Given the description of an element on the screen output the (x, y) to click on. 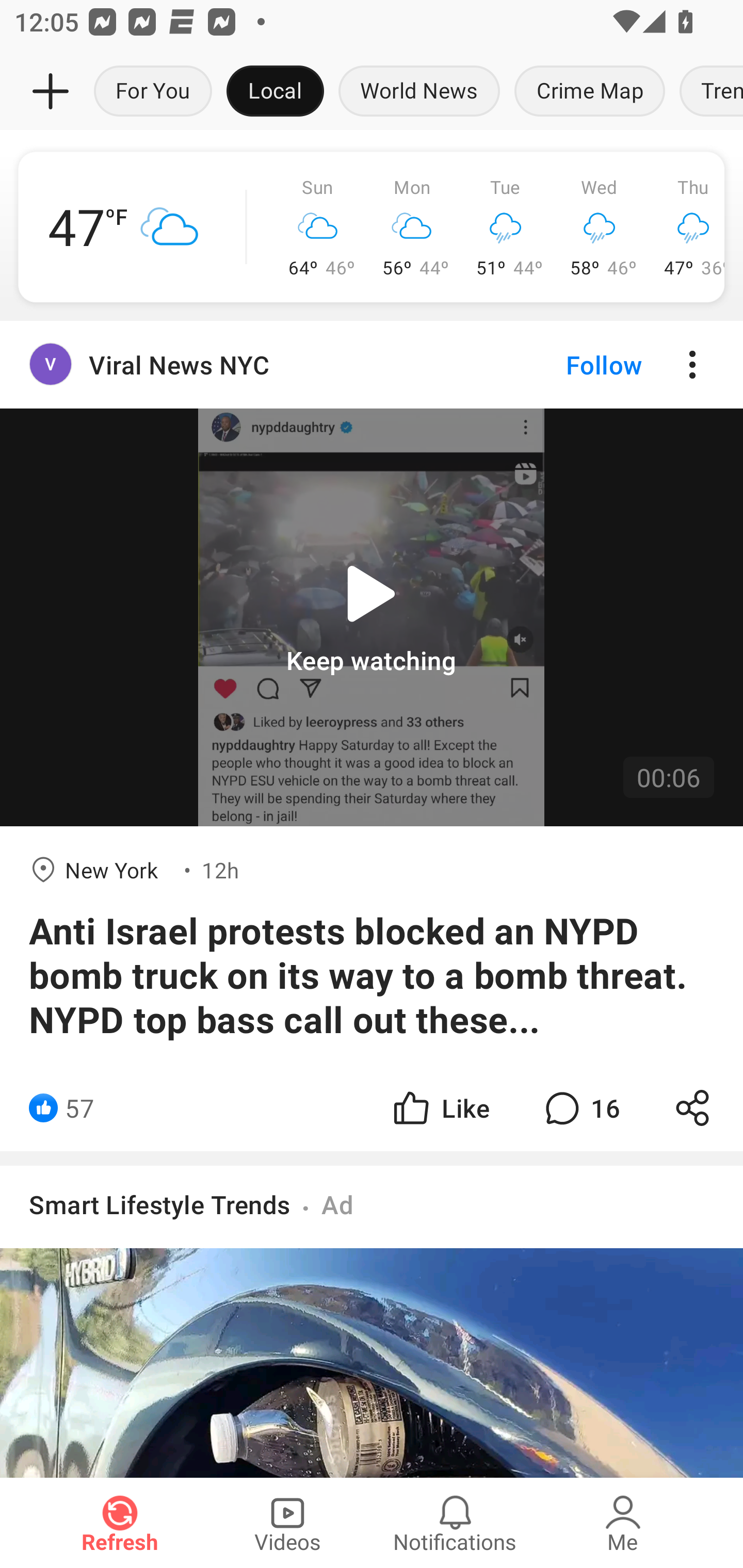
For You (152, 91)
Local (275, 91)
World News (419, 91)
Crime Map (589, 91)
Sun 64º 46º (317, 227)
Mon 56º 44º (411, 227)
Tue 51º 44º (505, 227)
Wed 58º 46º (599, 227)
Thu 47º 36º (685, 227)
Viral News NYC  Follow (371, 365)
Follow (569, 365)
57 (79, 1107)
Like (439, 1107)
16 (579, 1107)
Smart Lifestyle Trends (159, 1203)
Videos (287, 1522)
Notifications (455, 1522)
Me (622, 1522)
